Given the description of an element on the screen output the (x, y) to click on. 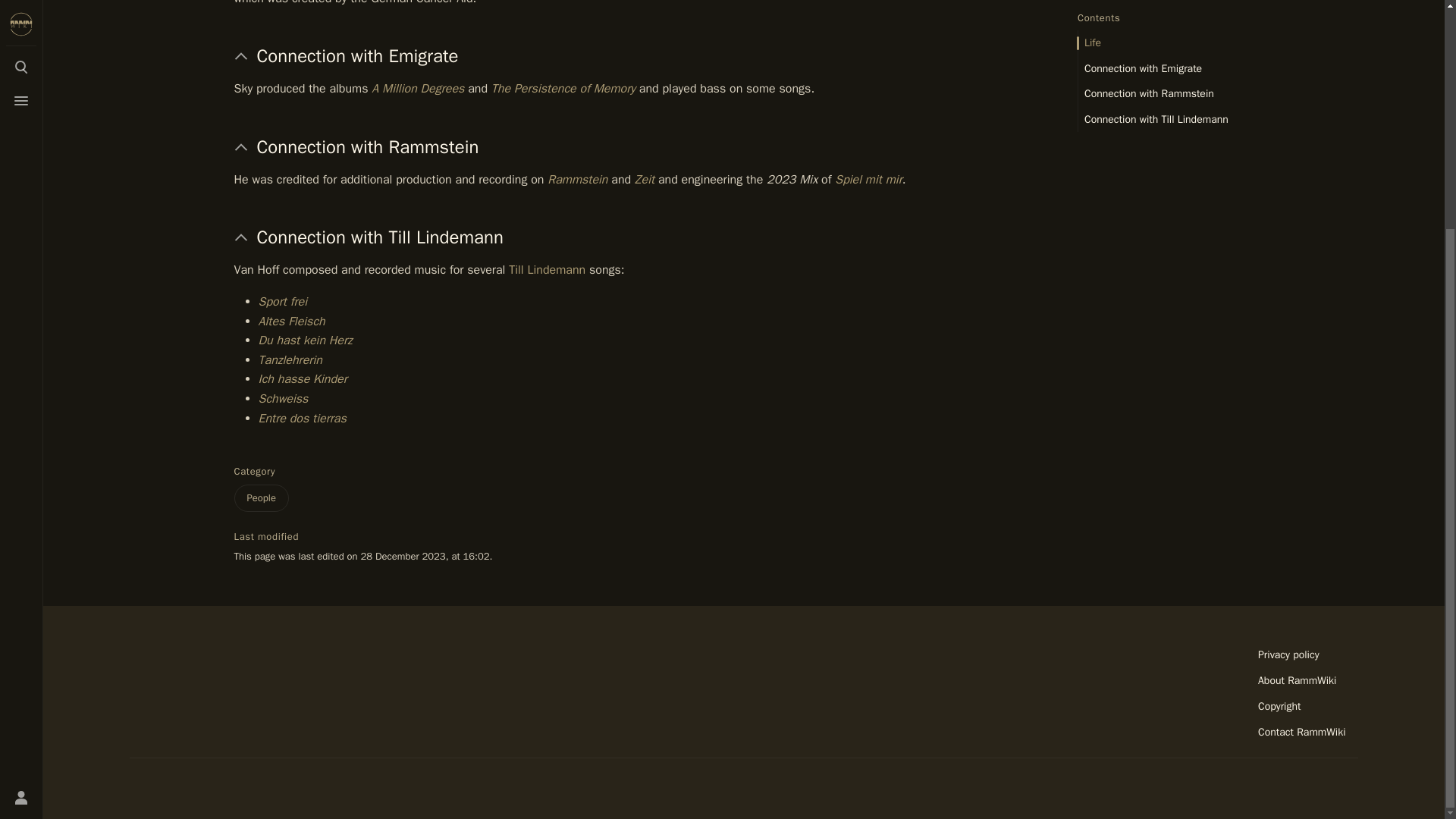
Toggle personal menu (20, 490)
